Given the description of an element on the screen output the (x, y) to click on. 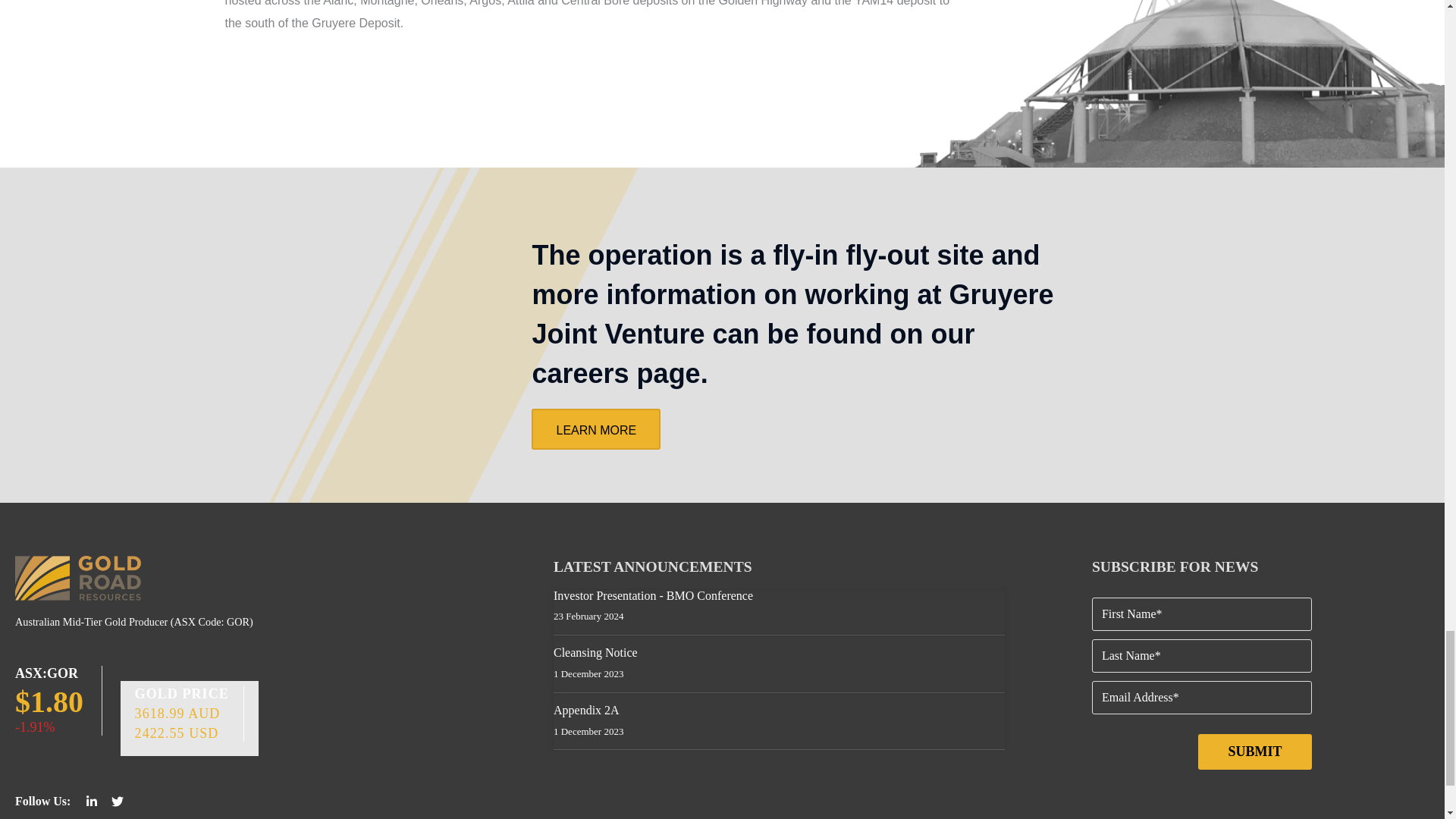
Submit (1254, 751)
